Given the description of an element on the screen output the (x, y) to click on. 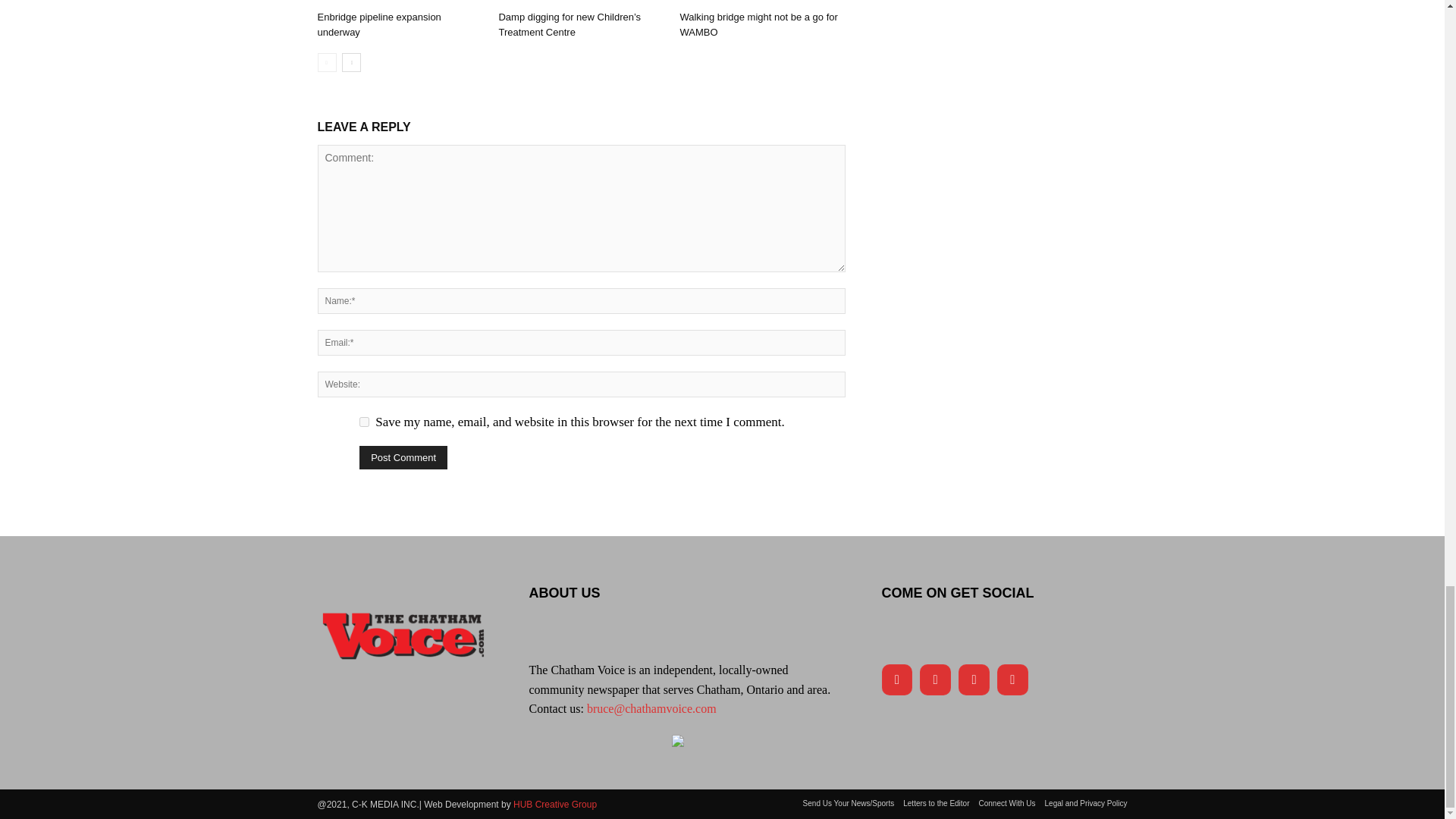
Post Comment (402, 457)
yes (364, 421)
